Given the description of an element on the screen output the (x, y) to click on. 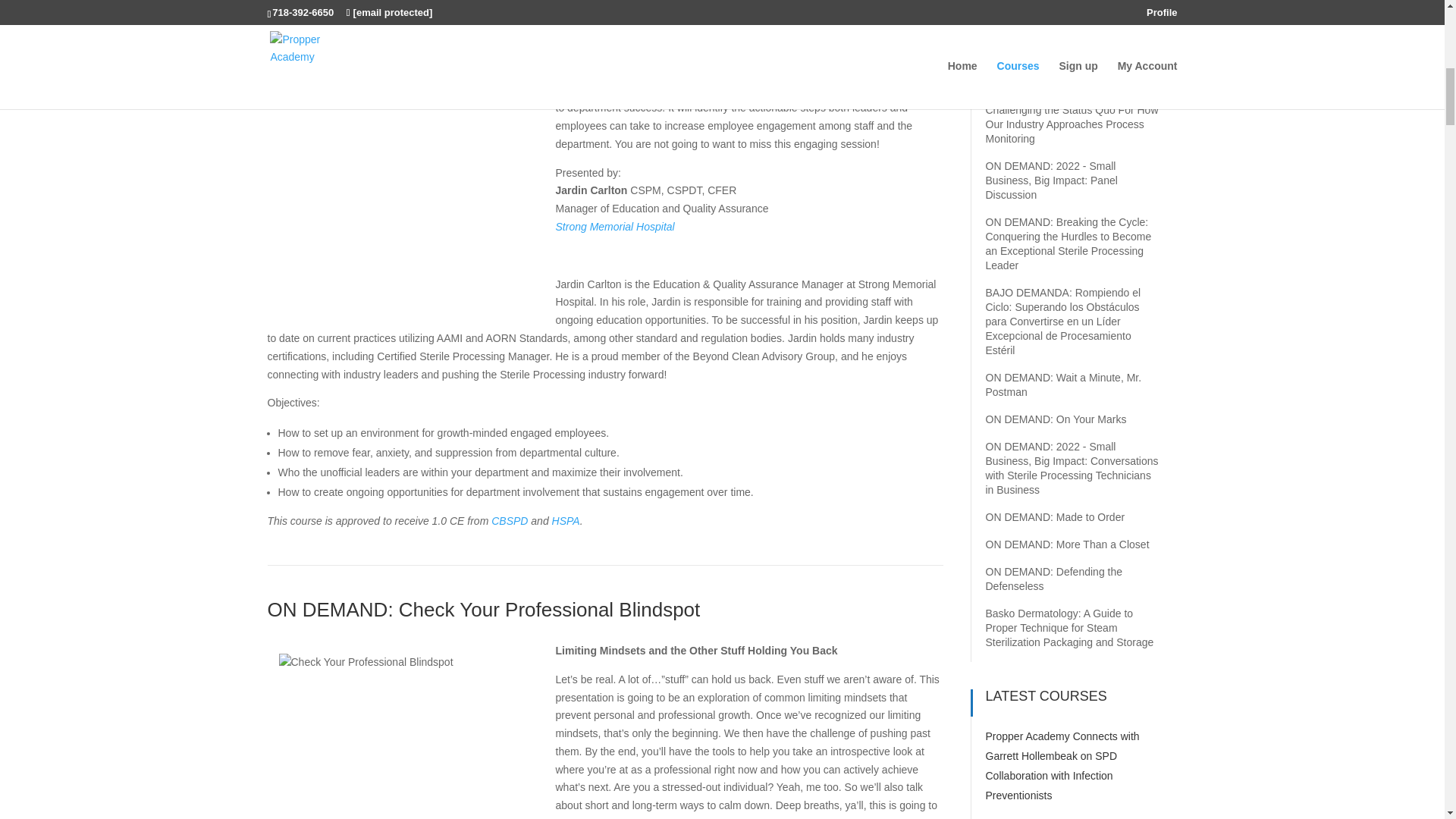
Strong Memorial Hospital (614, 226)
HSPA (565, 521)
CBSPD (509, 521)
ON DEMAND: Check Your Professional Blindspot (483, 609)
ON DEMAND: Check Your Professional Blindspot (483, 609)
